Given the description of an element on the screen output the (x, y) to click on. 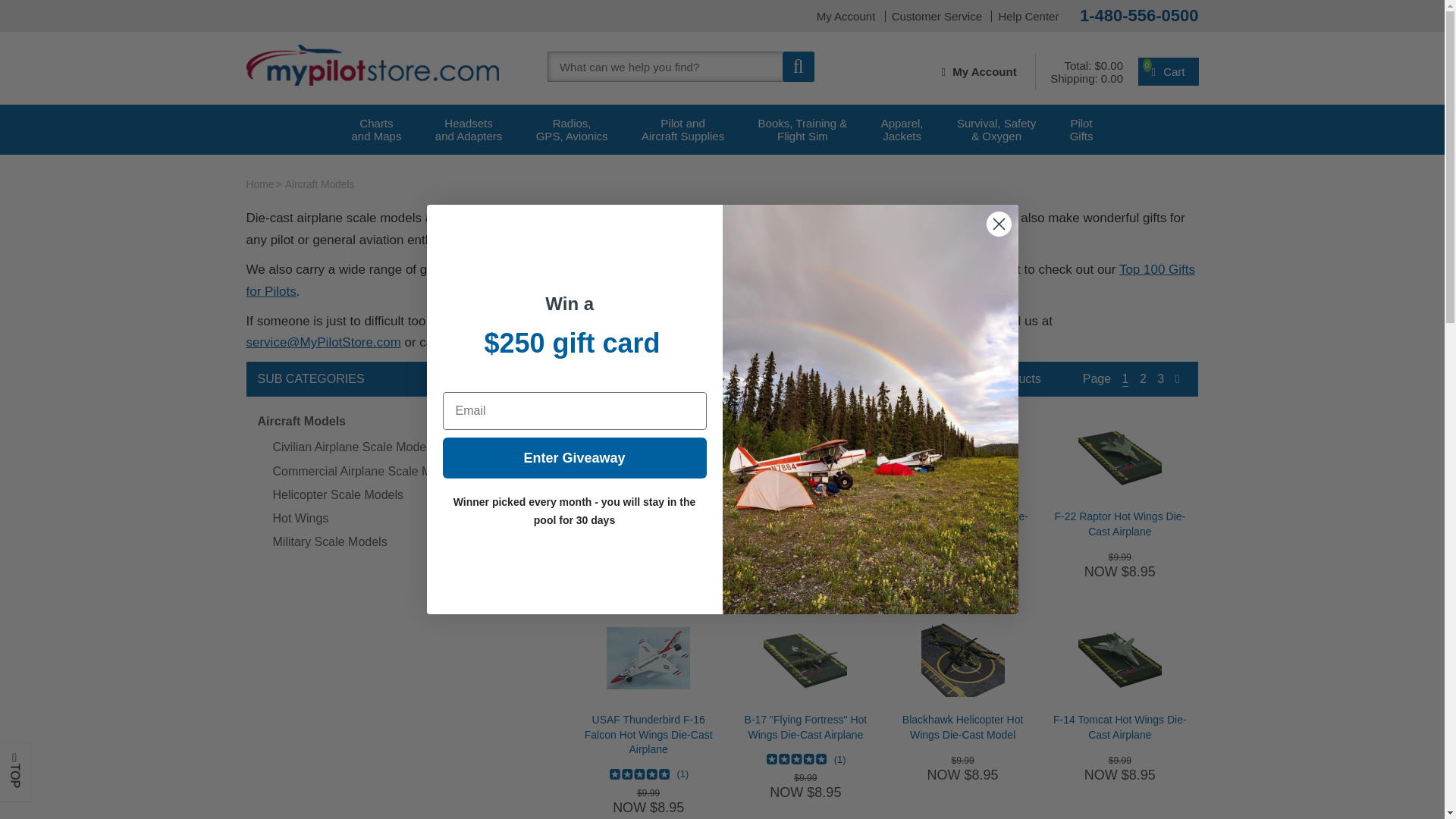
Help Center (1027, 16)
My Account (988, 71)
Charts and Maps (376, 129)
Call Us (1139, 15)
Customer Service (936, 16)
My Account (468, 129)
Help Center (846, 16)
Customer Service (376, 129)
My Account (1027, 16)
My Account (1167, 71)
1-480-556-0500 (936, 16)
